Given the description of an element on the screen output the (x, y) to click on. 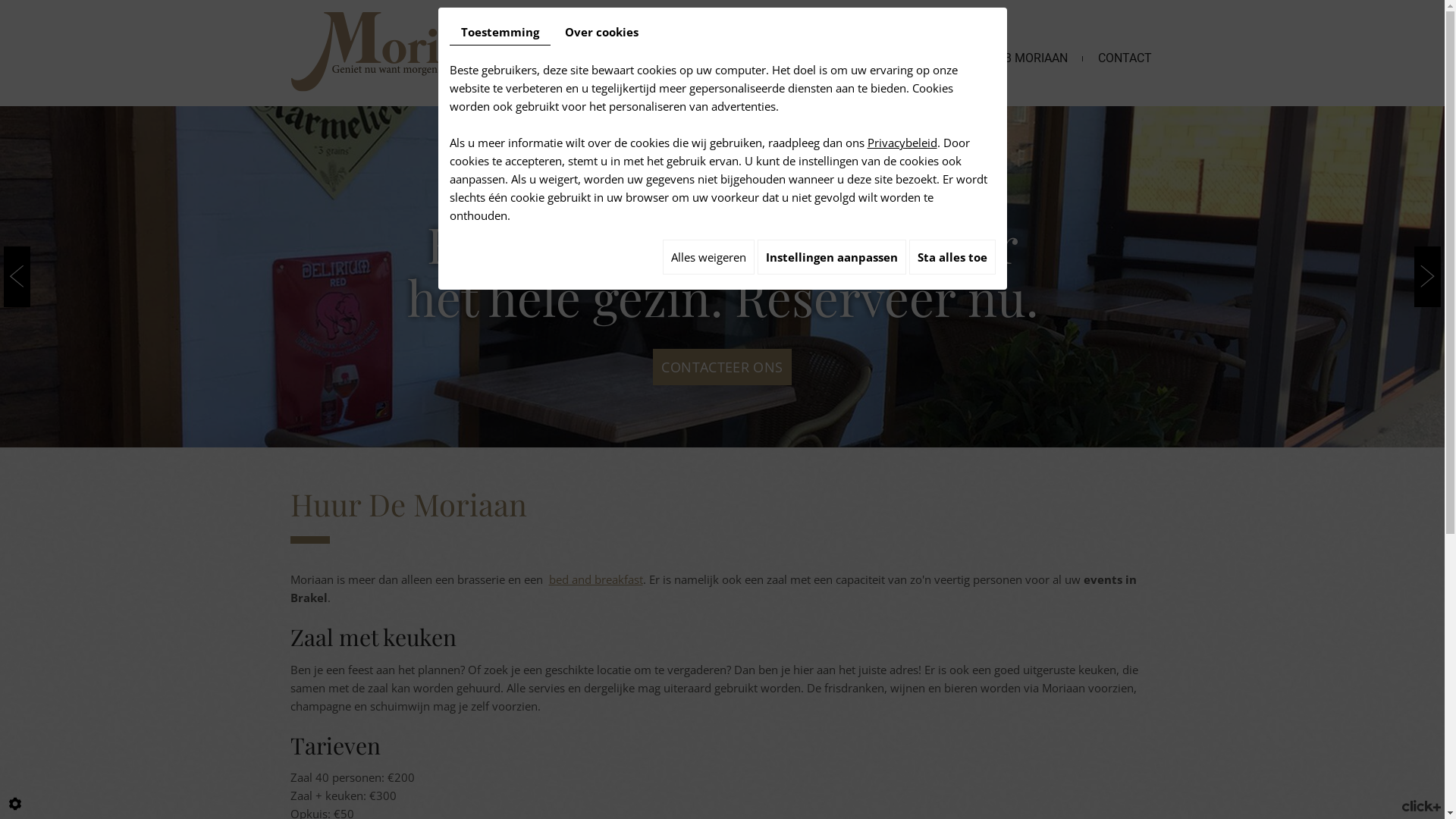
Instellingen aanpassen Element type: text (830, 256)
CONTACT Element type: text (1124, 36)
Moriaan - Brasserie Element type: hover (402, 50)
Alles weigeren Element type: text (708, 256)
Toestemming Element type: text (498, 31)
  Element type: hover (722, 276)
Sta alles toe Element type: text (951, 256)
Over cookies Element type: text (601, 31)
Privacybeleid Element type: text (902, 142)
B&B MORIAAN Element type: text (1028, 36)
Cookie-instelling bewerken Element type: text (14, 803)
EVENTLOCATIE Element type: text (916, 36)
HOME Element type: text (826, 36)
CONTACTEER ONS Element type: text (721, 366)
bed and breakfast Element type: text (596, 578)
